Given the description of an element on the screen output the (x, y) to click on. 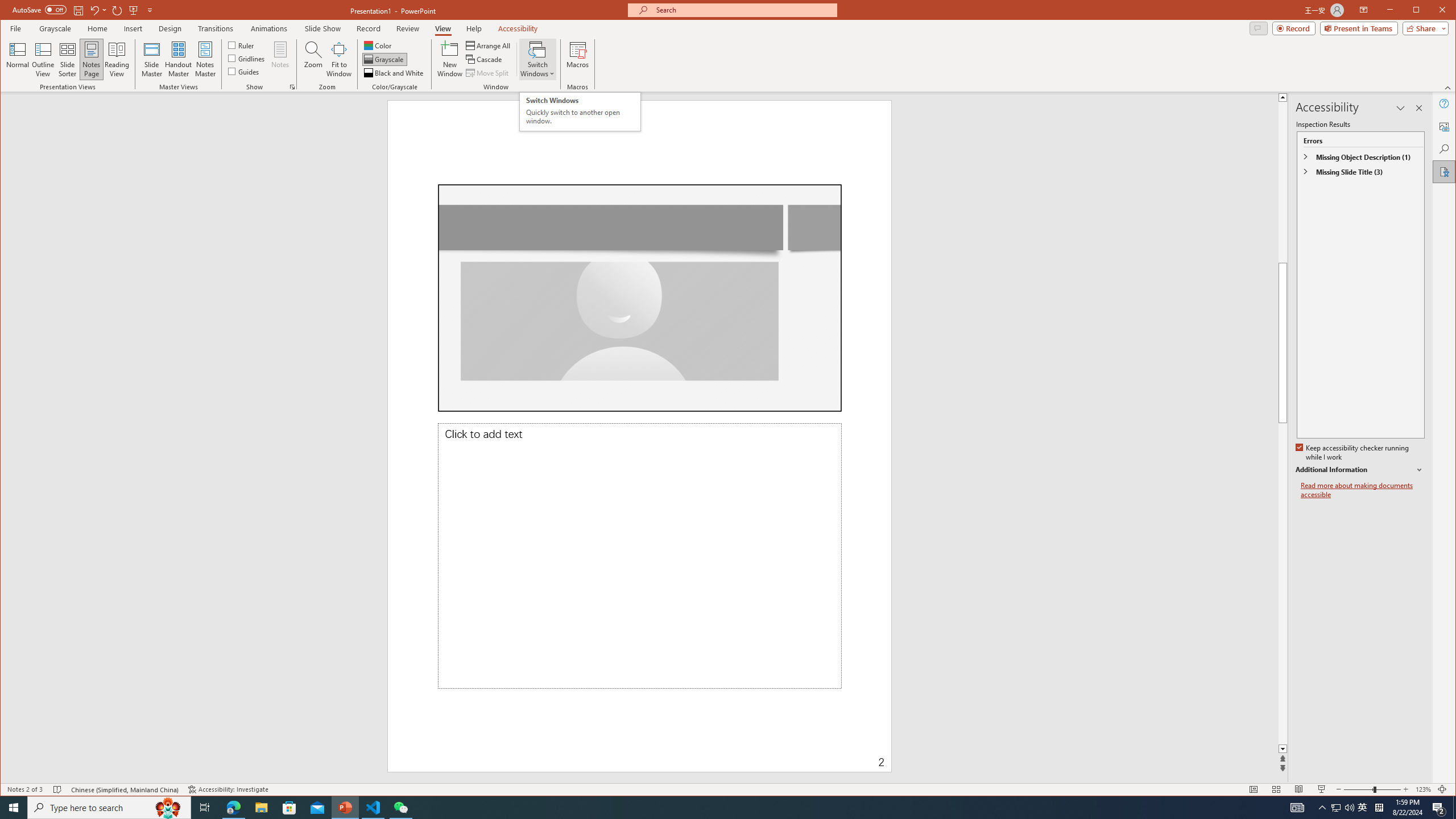
Cascade (484, 59)
New Window (450, 59)
Zoom... (312, 59)
Zoom 123% (1422, 789)
Switch Windows (537, 59)
